Given the description of an element on the screen output the (x, y) to click on. 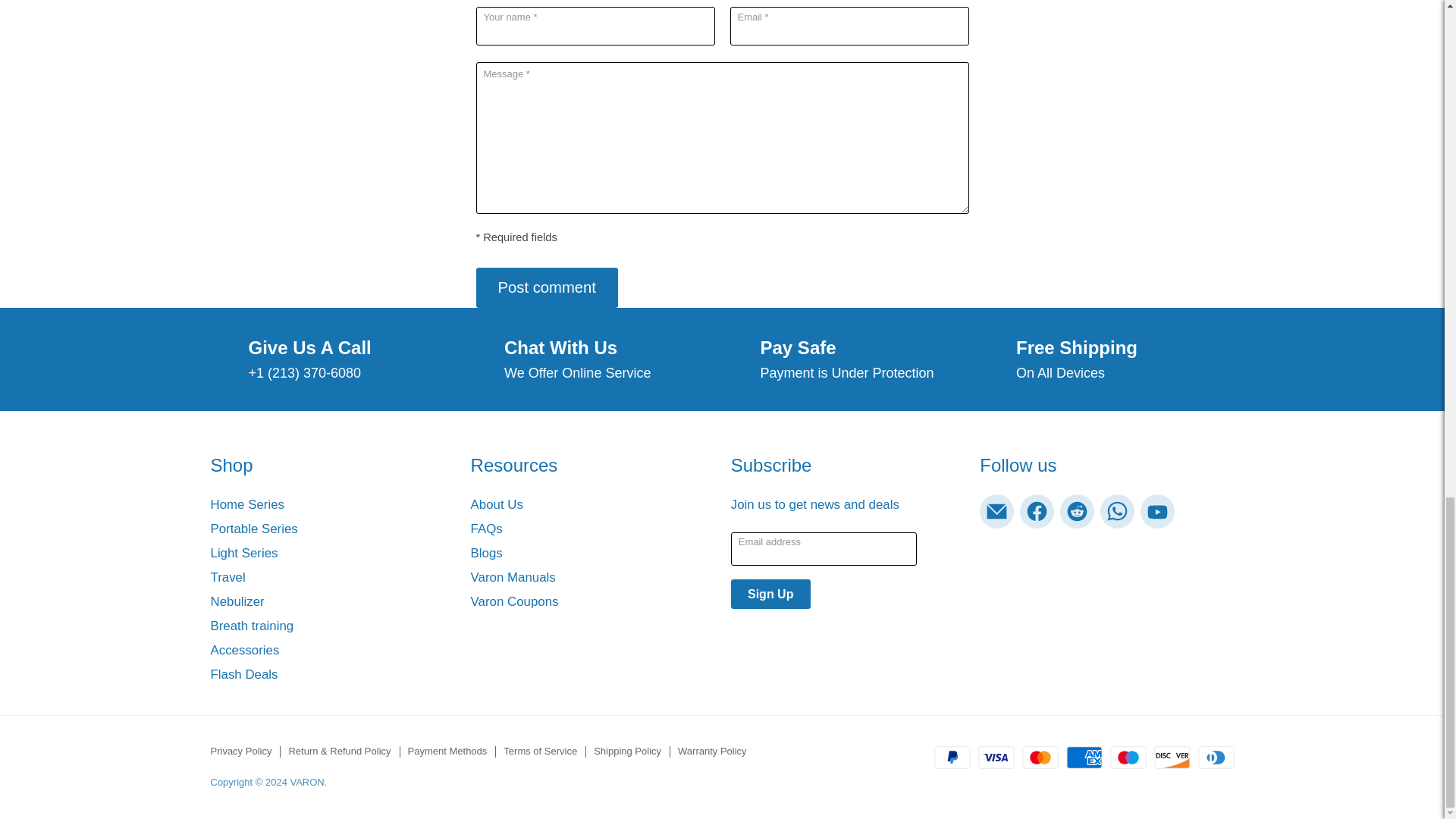
YouTube (1157, 511)
PayPal (952, 757)
Reddit (1076, 511)
Visa (996, 757)
WhatsApp (1117, 511)
Email (996, 511)
Mastercard (1040, 757)
Facebook (1037, 511)
